Given the description of an element on the screen output the (x, y) to click on. 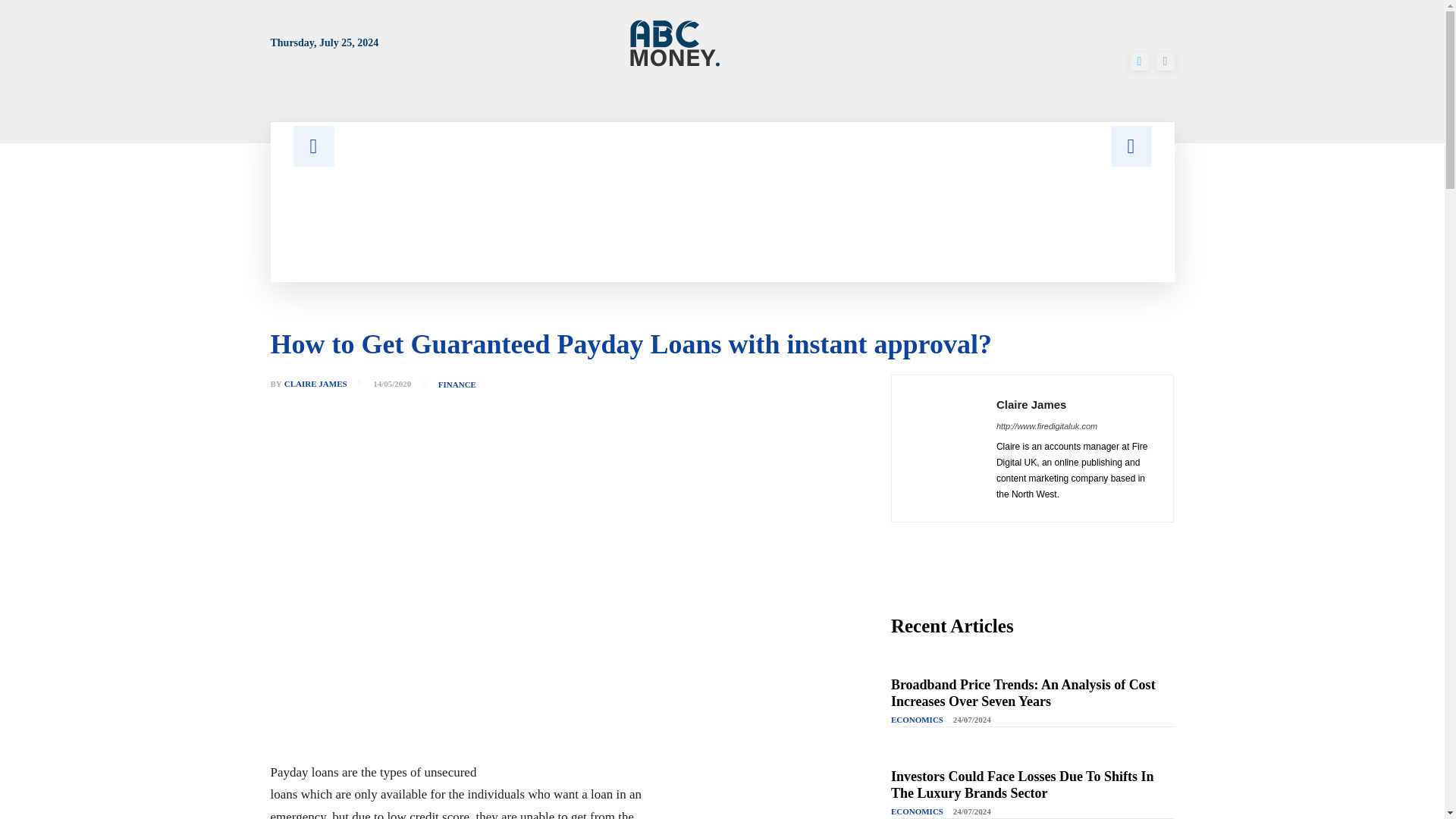
Facebook (1138, 60)
Twitter (1164, 60)
Claire James (943, 448)
FINANCE (457, 384)
CLAIRE JAMES (315, 384)
